Given the description of an element on the screen output the (x, y) to click on. 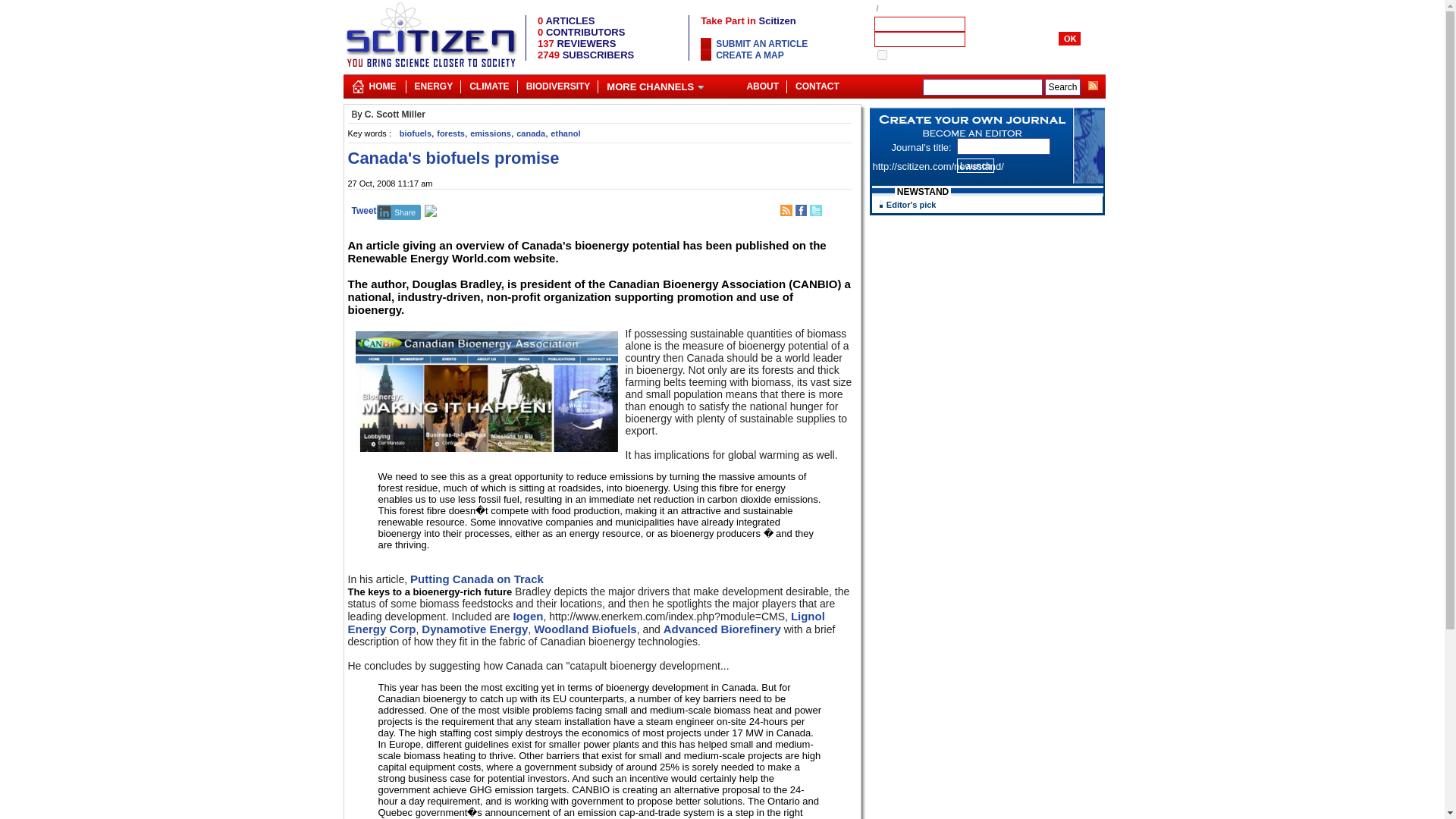
true (881, 54)
biofuels (414, 133)
ethanol (564, 133)
CLIMATE (488, 83)
C. Scott Miller (395, 113)
Search (1062, 86)
MORE CHANNELS (654, 83)
ABOUT (762, 83)
canada (530, 133)
Search (1062, 86)
ENERGY (433, 83)
SUBMIT AN ARTICLE (762, 43)
Share (399, 212)
HOME (381, 83)
CONTACT (817, 83)
